Given the description of an element on the screen output the (x, y) to click on. 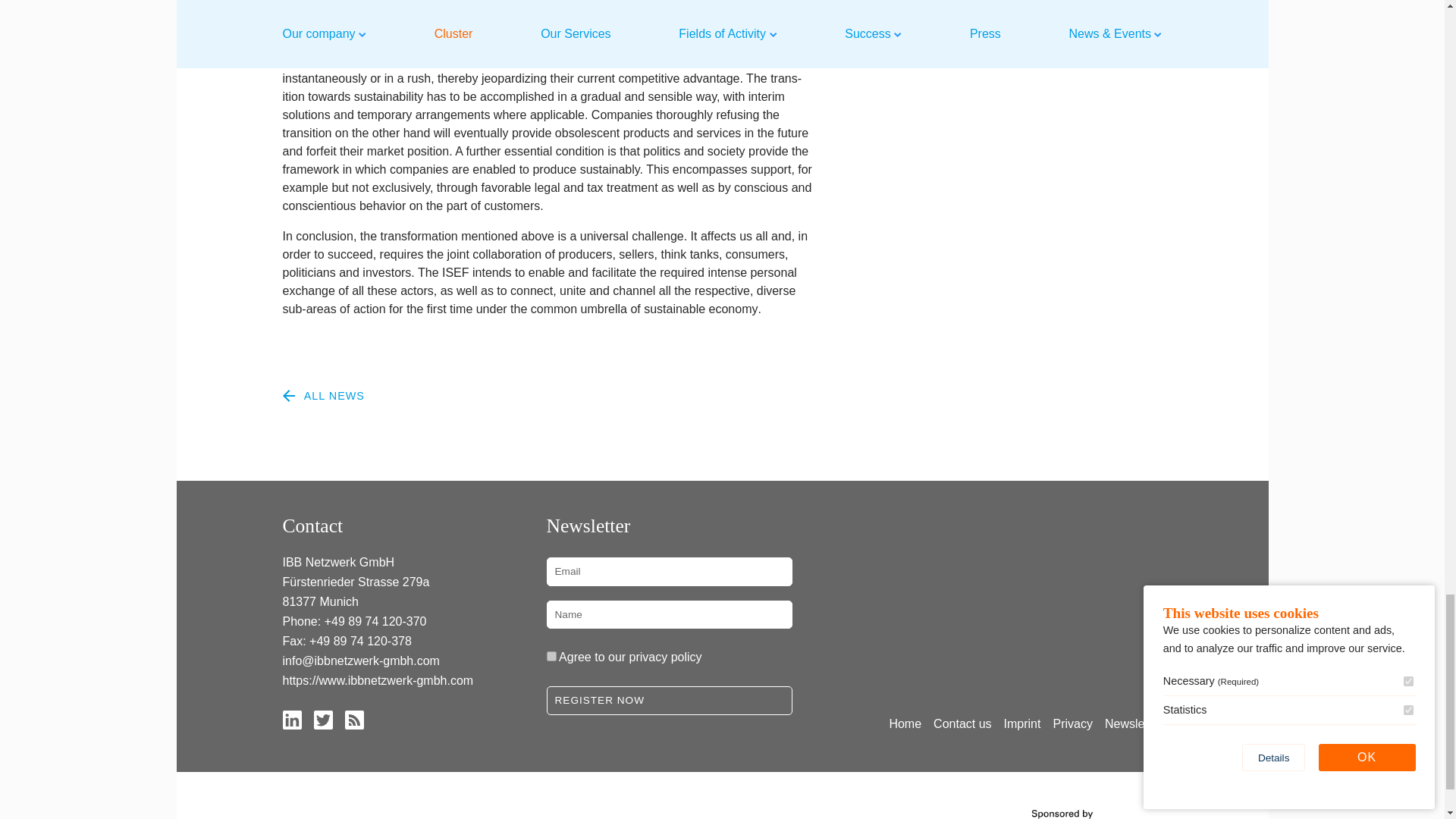
Register now (669, 700)
LinkedIn (291, 718)
RSS (352, 718)
1 (551, 655)
Twitter (323, 718)
